Given the description of an element on the screen output the (x, y) to click on. 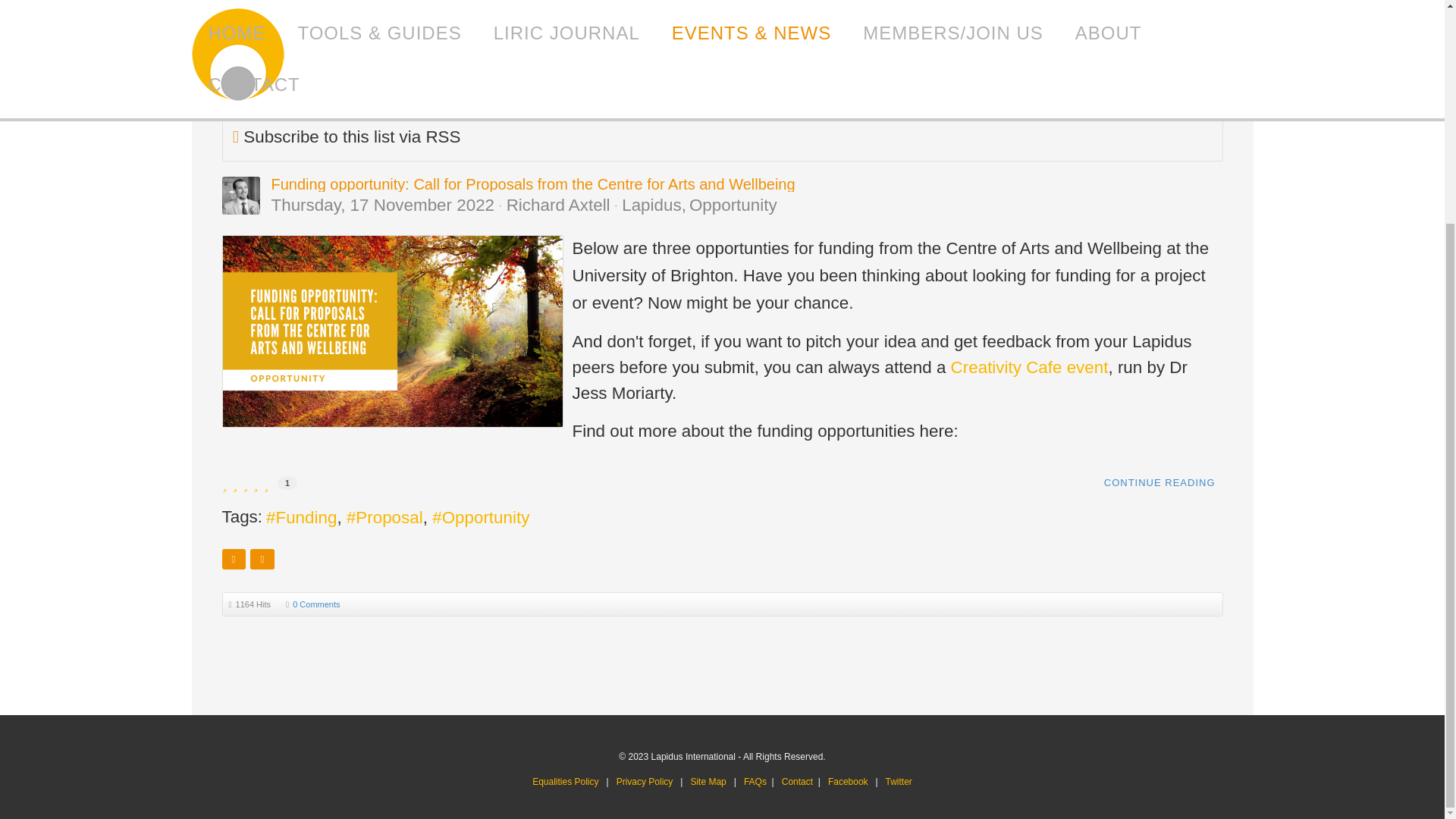
Subscribe to this list via RSS (351, 136)
1 vote (287, 482)
Calendar (295, 44)
